Given the description of an element on the screen output the (x, y) to click on. 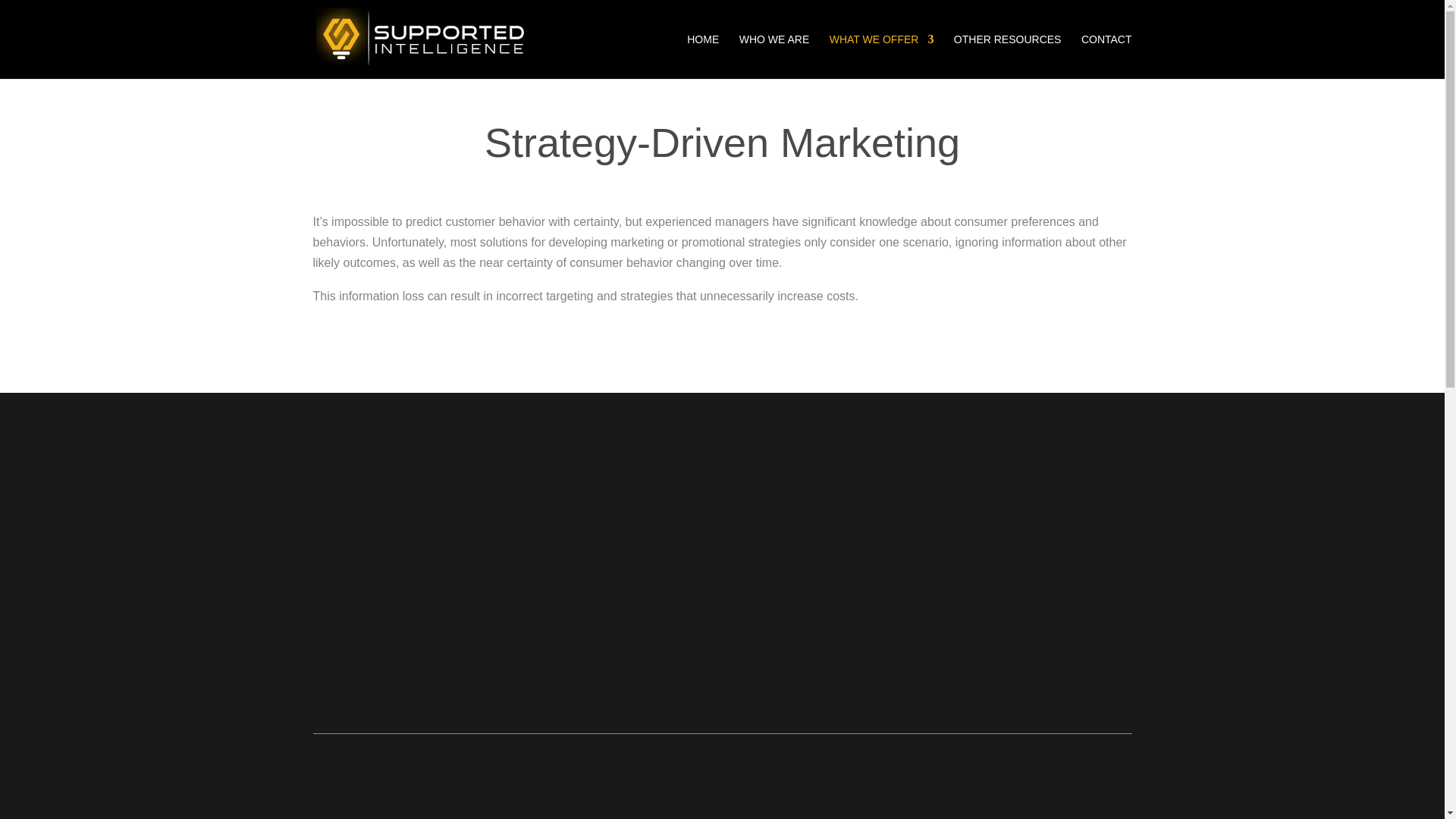
CONTACT (1106, 56)
WHAT WE OFFER (881, 56)
WHO WE ARE (774, 56)
OTHER RESOURCES (1007, 56)
